Given the description of an element on the screen output the (x, y) to click on. 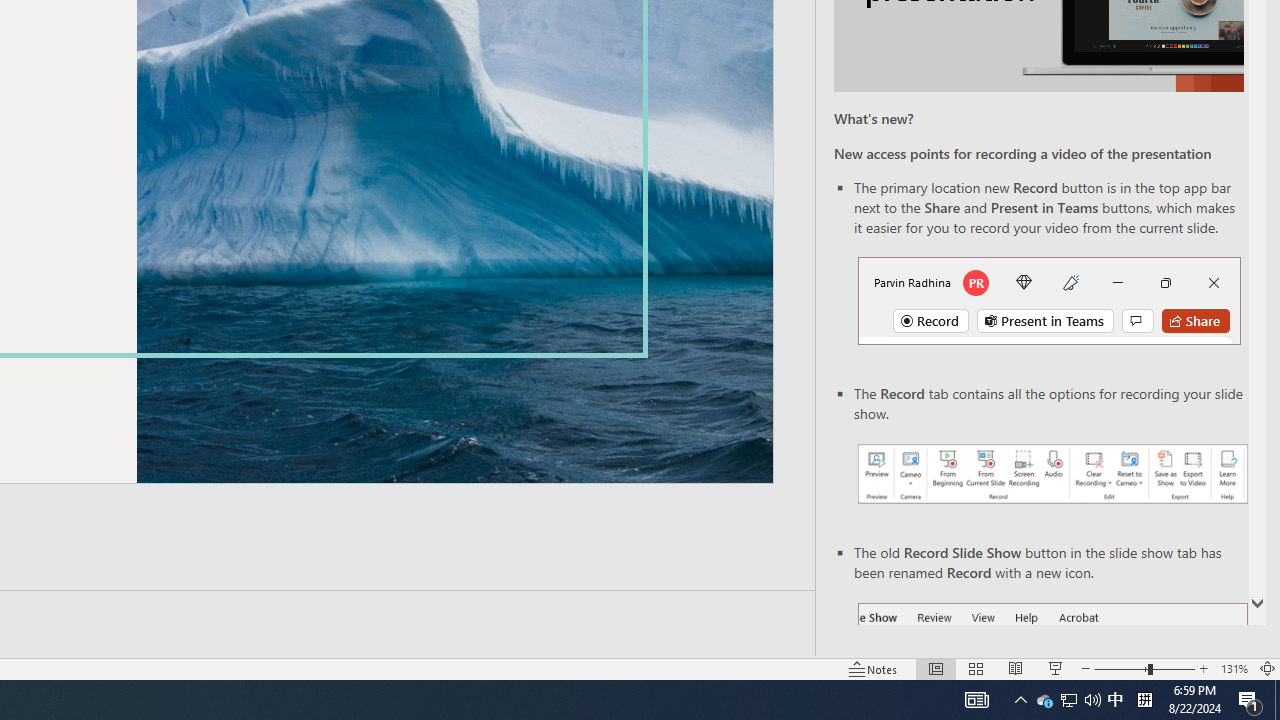
Zoom 131% (1234, 668)
Record button in top bar (1049, 300)
Record your presentations screenshot one (1052, 473)
